Given the description of an element on the screen output the (x, y) to click on. 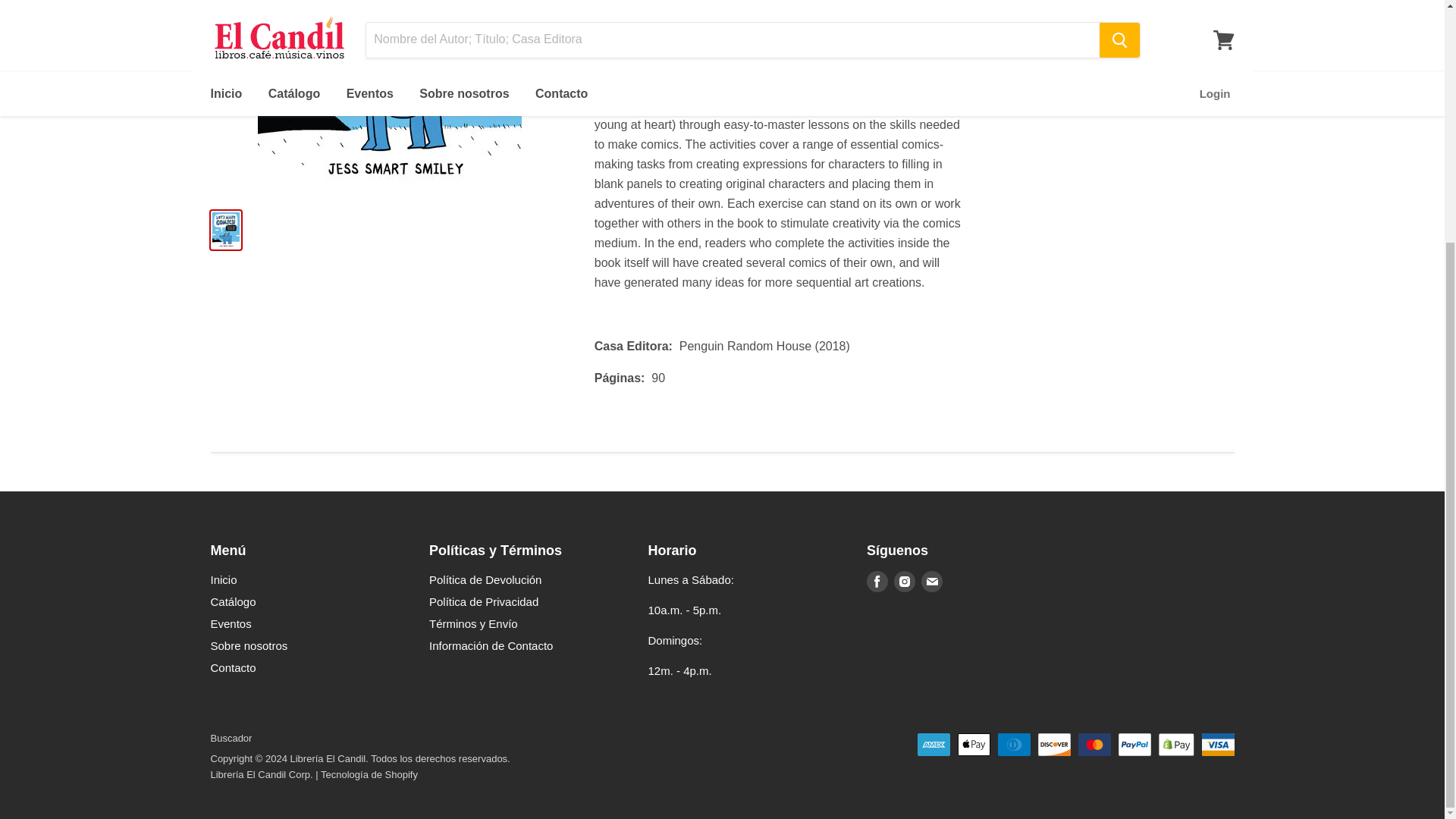
Eventos (231, 623)
Instagram (904, 581)
Inicio (224, 579)
Facebook (877, 581)
Contacto (233, 667)
E-mail (931, 581)
Sobre nosotros (249, 645)
